Given the description of an element on the screen output the (x, y) to click on. 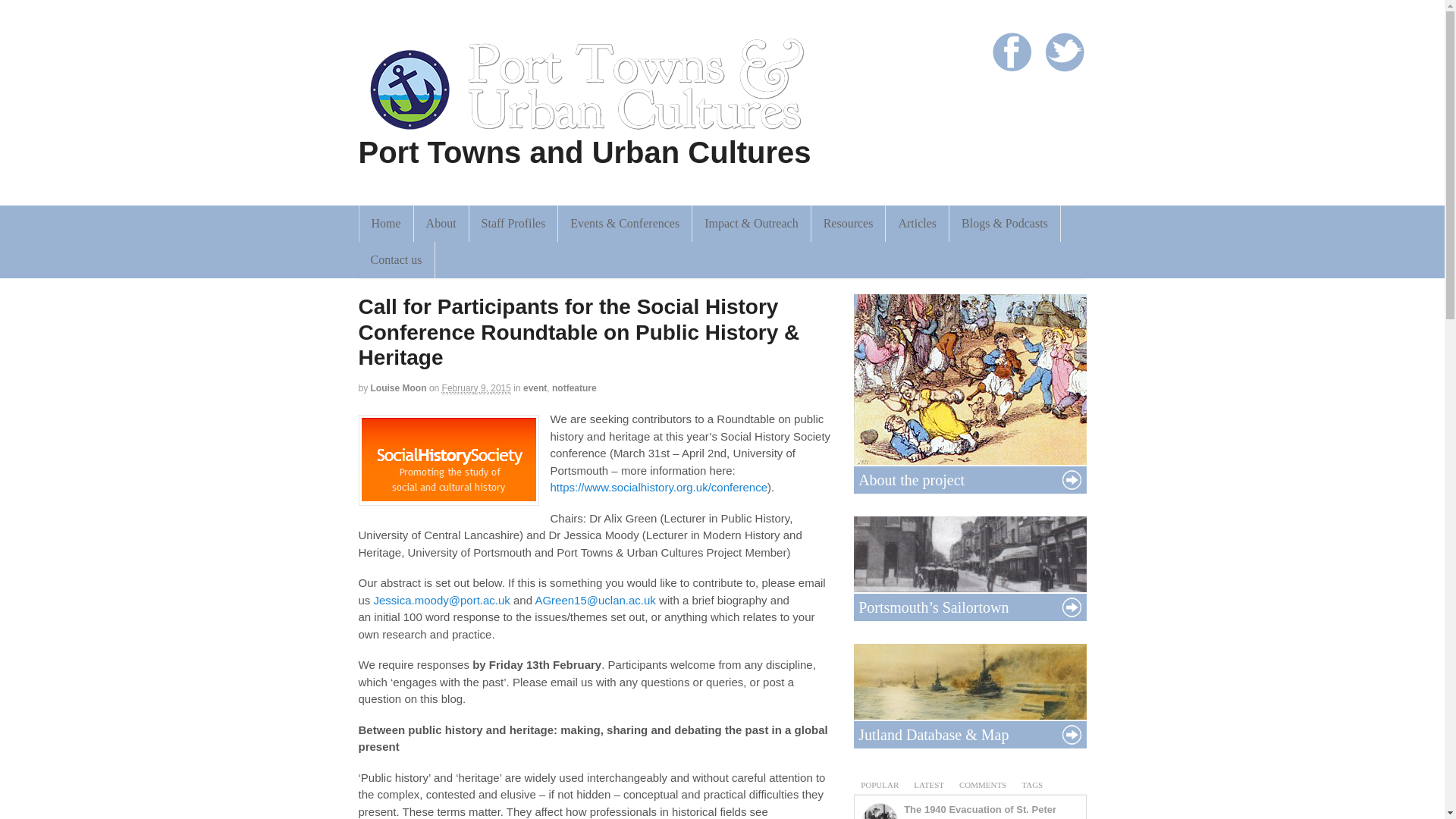
Articles (917, 223)
event (534, 388)
Blogs (1004, 223)
Contact us (395, 259)
Resources (847, 223)
Staff Profiles (512, 223)
notfeature (573, 388)
Posts by Louise Moon (398, 388)
Home (386, 223)
Louise Moon (398, 388)
